Given the description of an element on the screen output the (x, y) to click on. 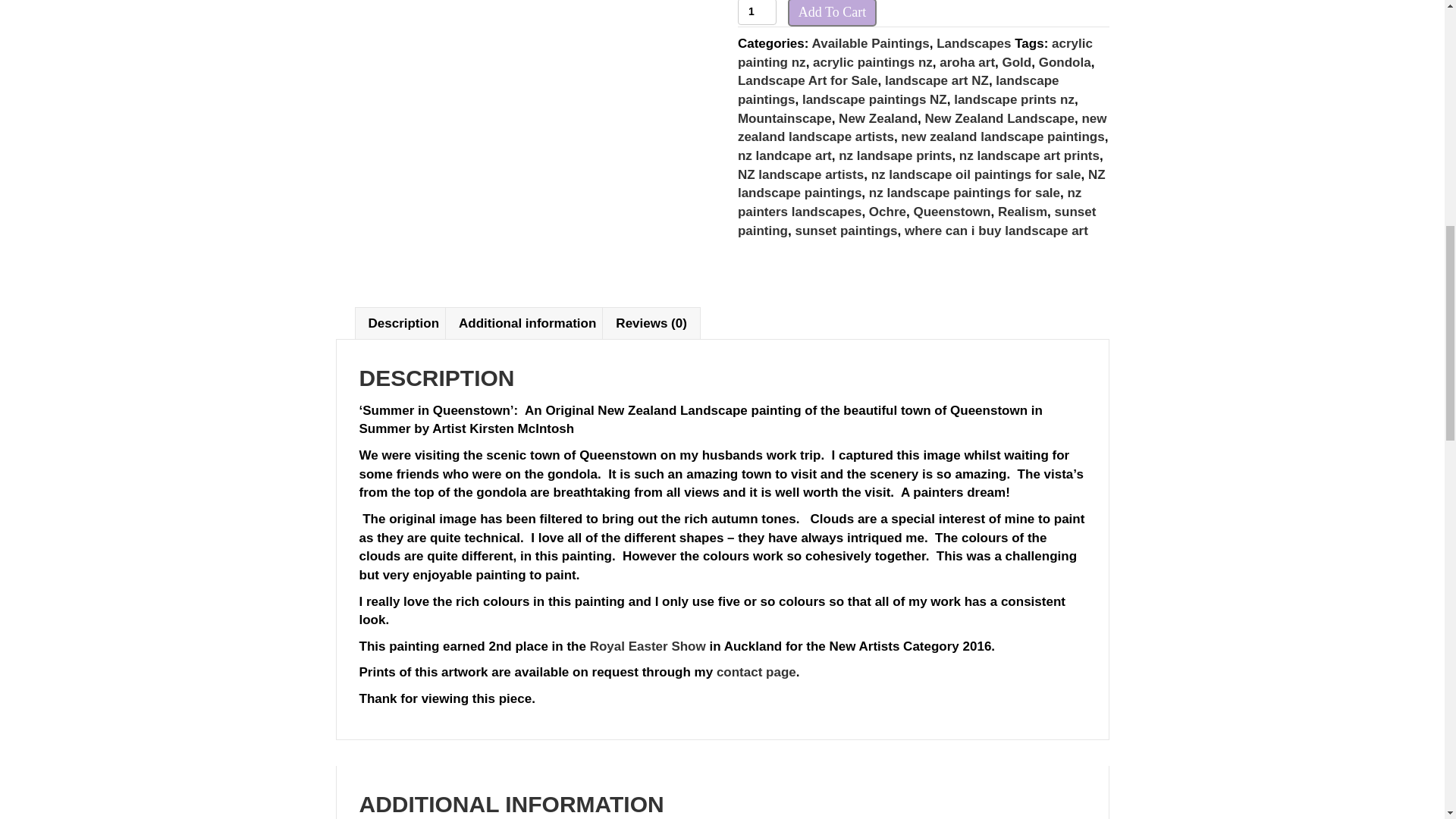
Available Paintings (871, 43)
acrylic painting nz (915, 52)
aroha art (966, 62)
Add To Cart (831, 13)
1 (757, 12)
Landscapes (973, 43)
acrylic paintings nz (872, 62)
